Given the description of an element on the screen output the (x, y) to click on. 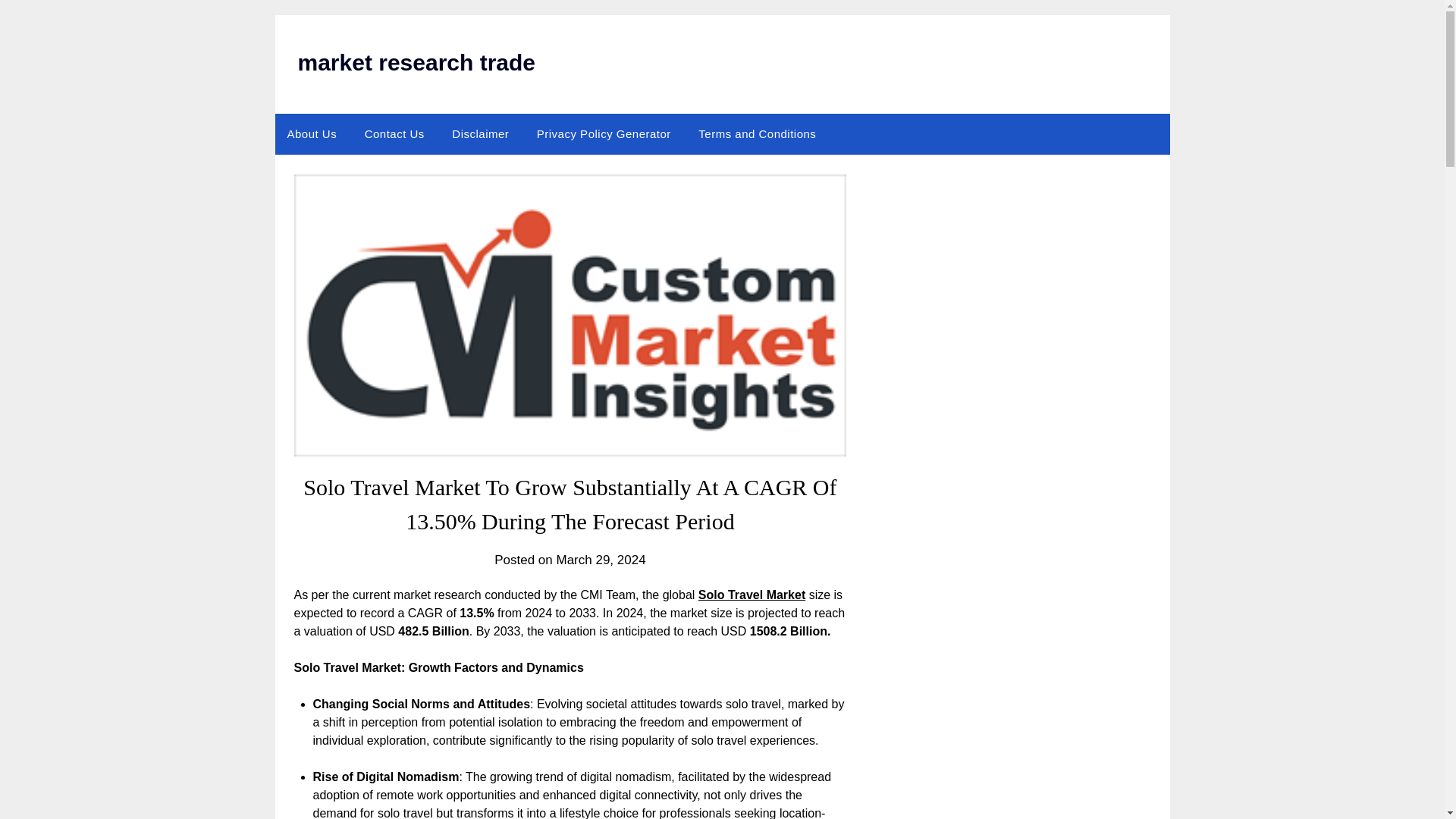
Solo Travel Market (751, 594)
Terms and Conditions (756, 133)
Contact Us (394, 133)
Privacy Policy Generator (603, 133)
About Us (312, 133)
Disclaimer (480, 133)
market research trade (416, 62)
